Given the description of an element on the screen output the (x, y) to click on. 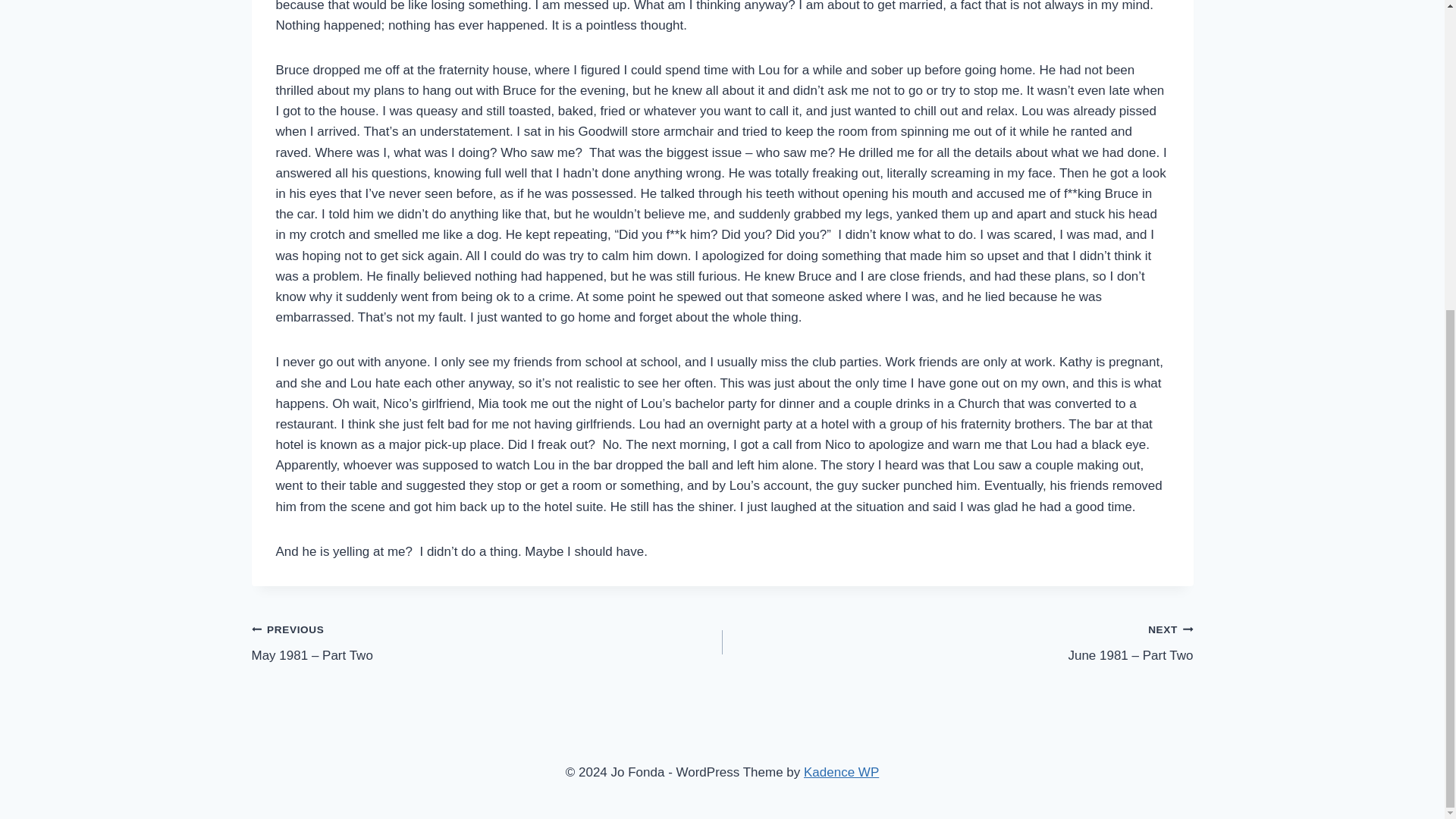
Kadence WP (841, 771)
